Given the description of an element on the screen output the (x, y) to click on. 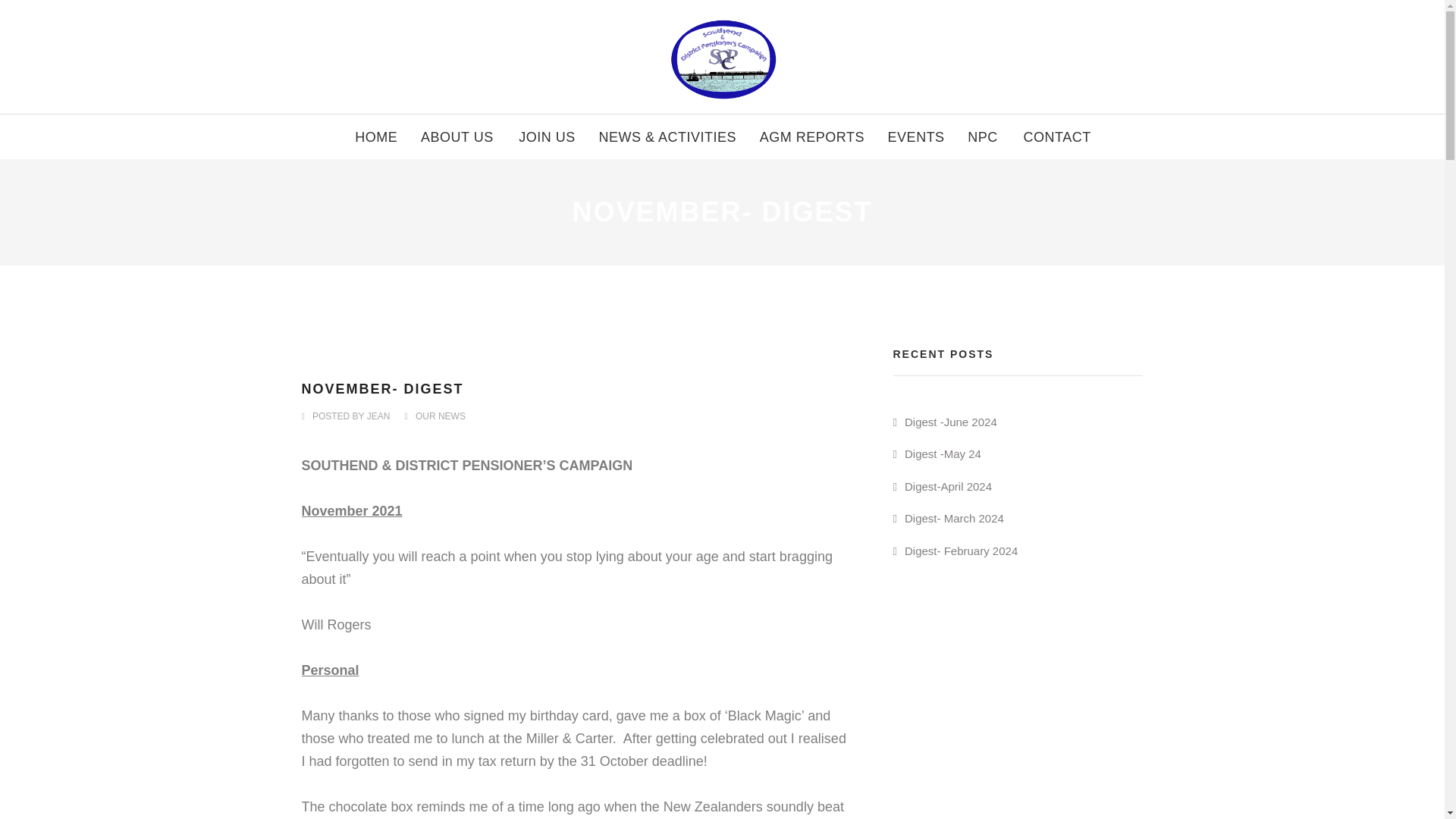
Southend Pensioners (722, 56)
NOVEMBER- DIGEST (382, 388)
Digest -May 24 (937, 453)
OUR NEWS (439, 416)
Permalink to: November- Digest (382, 388)
Digest- March 2024 (948, 517)
EVENTS (916, 136)
Digest- February 2024 (955, 550)
HOME (376, 136)
CONTACT (1057, 136)
View all posts in Our News (439, 416)
JOIN US (547, 136)
JEAN (378, 416)
AGM REPORTS (812, 136)
NPC (983, 136)
